Given the description of an element on the screen output the (x, y) to click on. 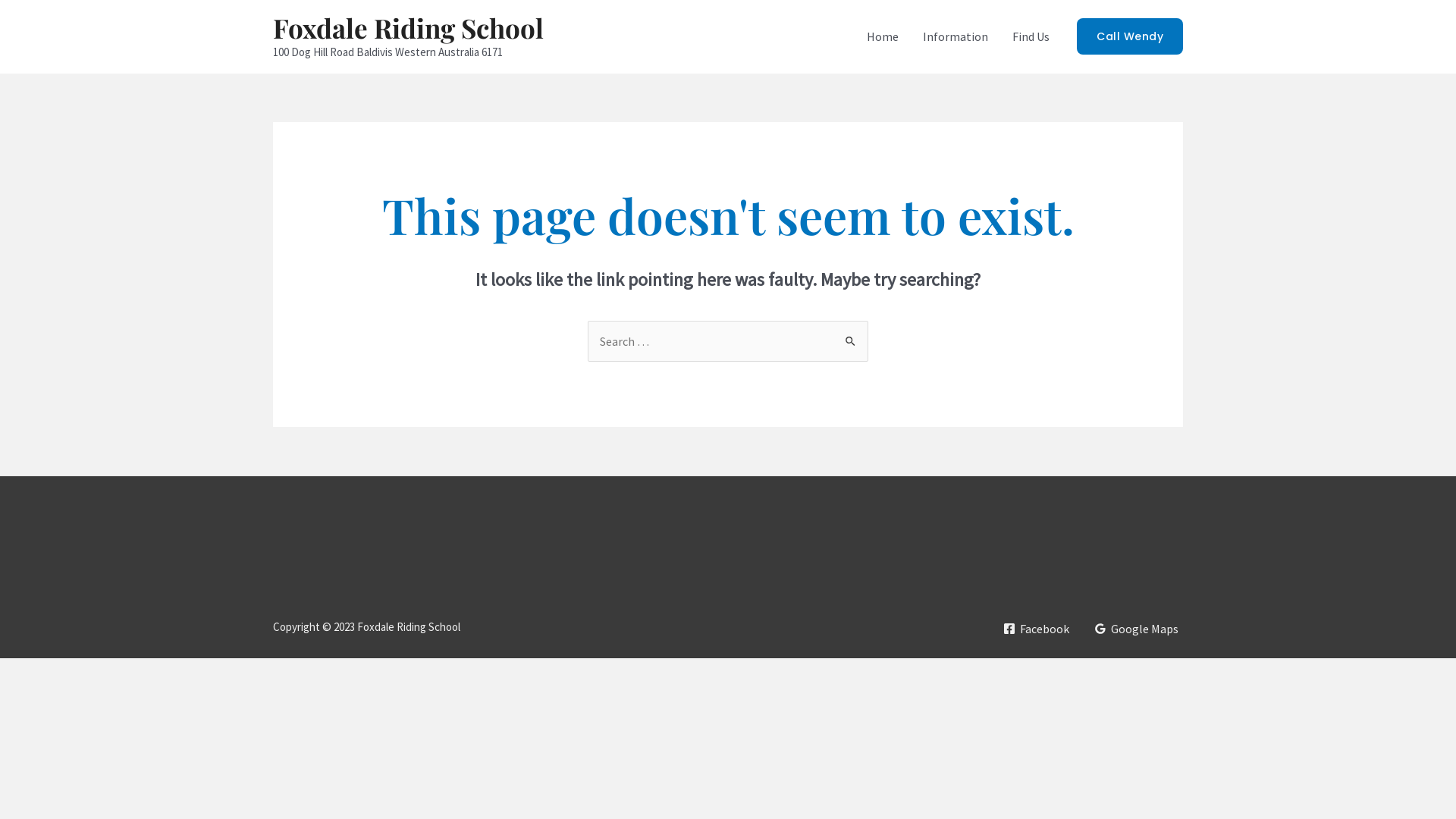
Facebook Element type: text (1035, 628)
Home Element type: text (882, 36)
Search Element type: text (851, 335)
Find Us Element type: text (1030, 36)
Google Maps Element type: text (1135, 628)
Call Wendy Element type: text (1129, 36)
Foxdale Riding School Element type: text (408, 27)
Information Element type: text (955, 36)
